Given the description of an element on the screen output the (x, y) to click on. 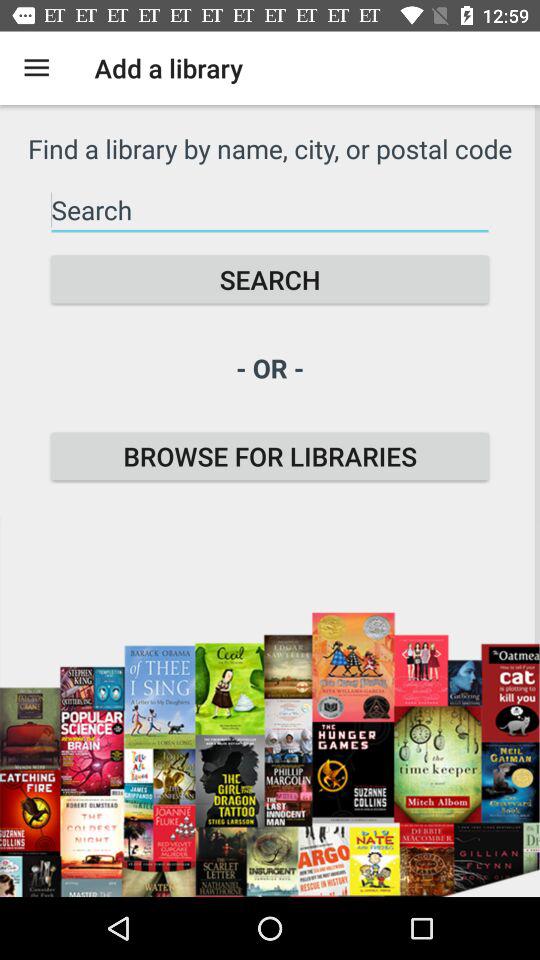
open browse for libraries icon (269, 455)
